Given the description of an element on the screen output the (x, y) to click on. 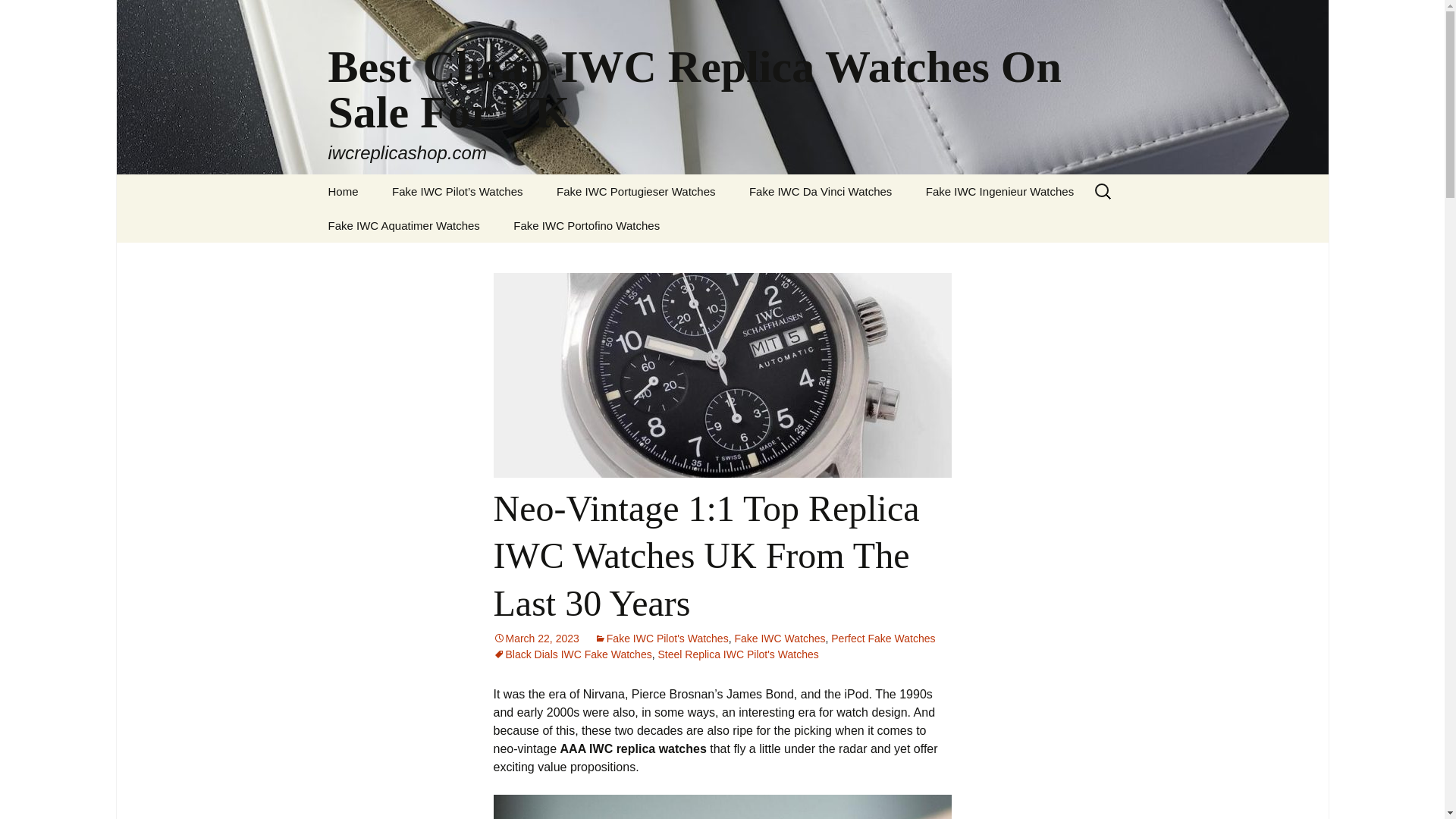
Steel Replica IWC Pilot's Watches (738, 654)
Perfect Fake Watches (882, 638)
Fake IWC Pilot's Watches (661, 638)
Fake IWC Aquatimer Watches (404, 225)
Home (342, 191)
Fake IWC Watches (779, 638)
March 22, 2023 (535, 638)
Fake IWC Portugieser Watches (635, 191)
Search (34, 15)
Fake IWC Da Vinci Watches (820, 191)
